Given the description of an element on the screen output the (x, y) to click on. 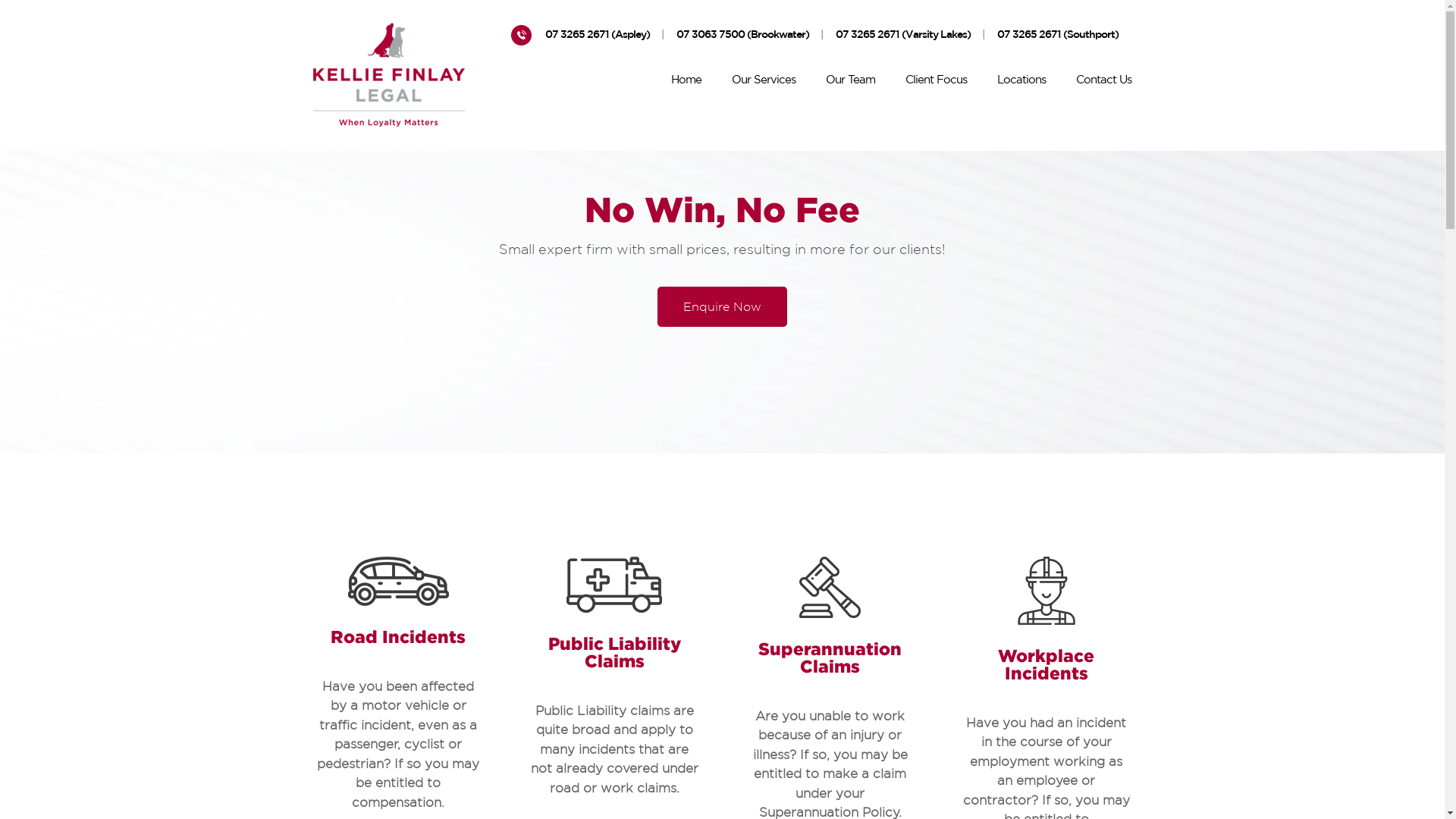
Superannuation Claims - Kellie Finlay Legal Element type: hover (829, 587)
Road Incidents Lawyer - Kellie Finlay Legal Element type: hover (398, 580)
07 3265 2671 (Aspley) Element type: text (597, 36)
Locations Element type: text (1021, 82)
Contact Us Element type: text (1103, 82)
Public Liability Claims - Kellie Finlay Legal Element type: hover (614, 584)
Client Focus Element type: text (935, 82)
07 3265 2671 (Varsity Lakes) Element type: text (902, 36)
Our Team Element type: text (850, 82)
Enquire Now Element type: text (722, 306)
Work Compensation Lawyer - Kellie Finlay Legal Element type: hover (1046, 590)
07 3265 2671 (Southport) Element type: text (1057, 36)
No Win, No Fee Element type: text (721, 209)
Home Element type: text (686, 82)
07 3063 7500 (Brookwater) Element type: text (742, 36)
Our Services Element type: text (763, 82)
